Given the description of an element on the screen output the (x, y) to click on. 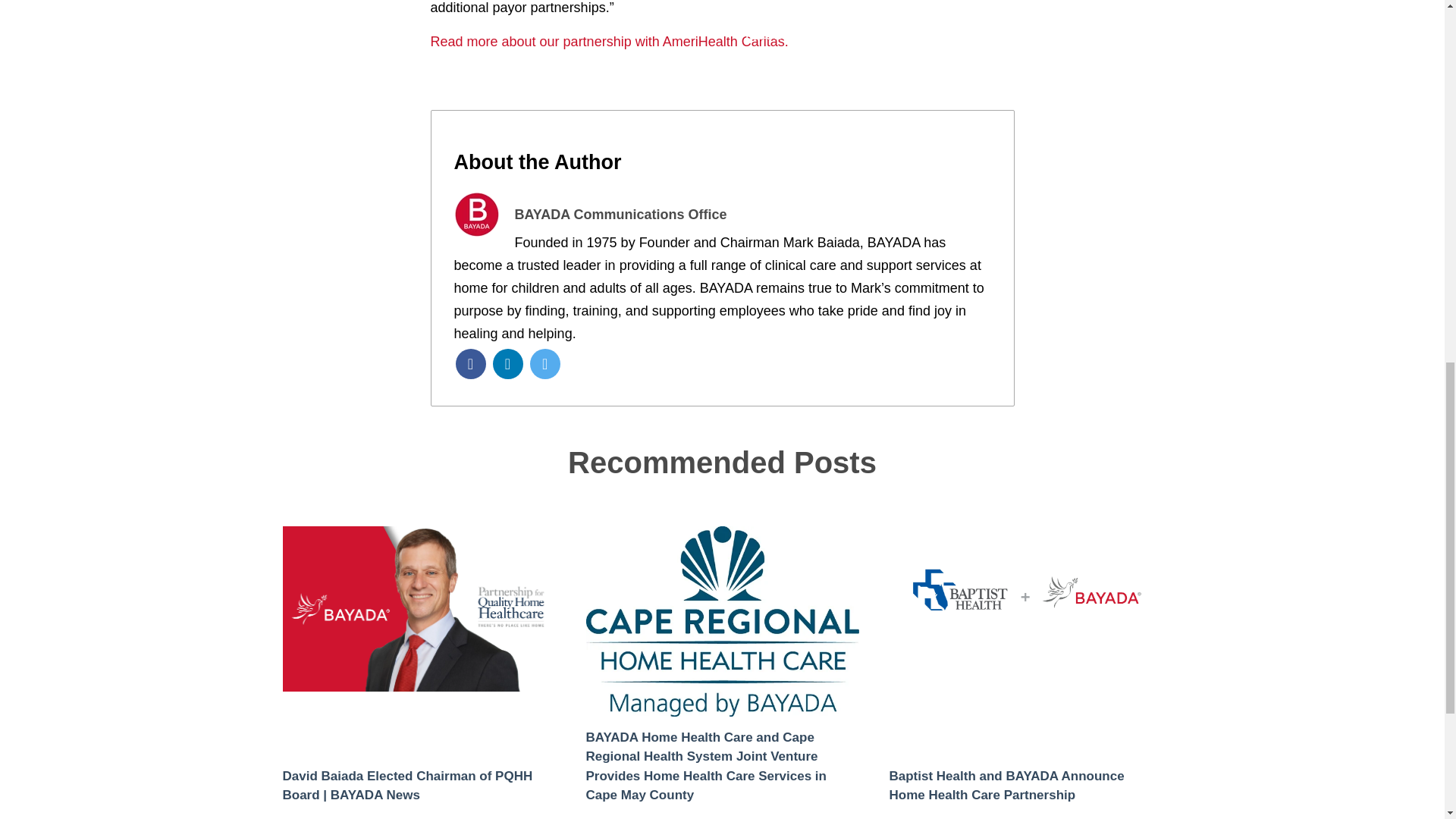
BAYADA Communications Office (619, 226)
Read more about our partnership with AmeriHealth Caritas. (609, 41)
